Given the description of an element on the screen output the (x, y) to click on. 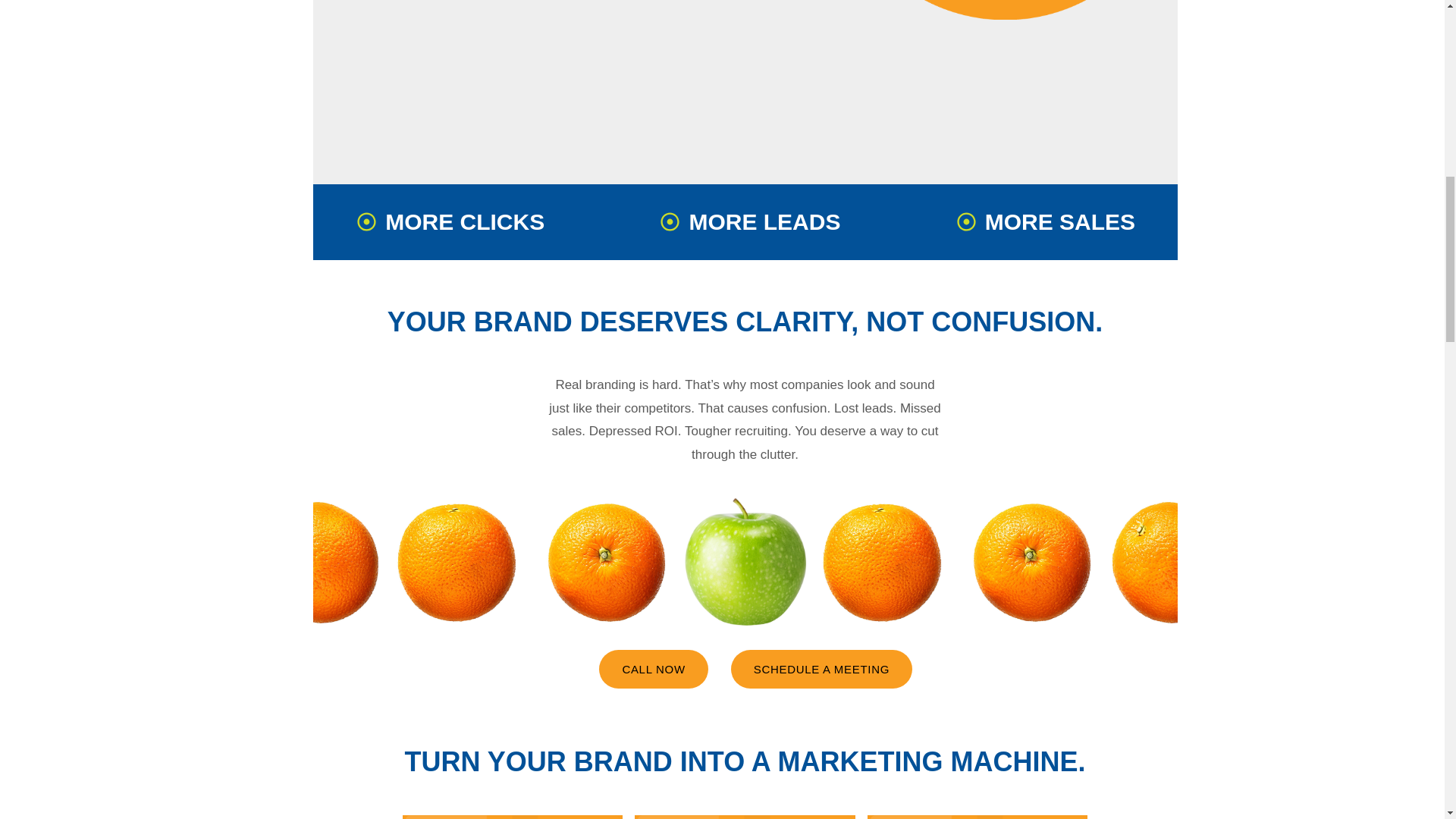
CALL NOW (652, 669)
SCHEDULE A MEETING (821, 669)
